Given the description of an element on the screen output the (x, y) to click on. 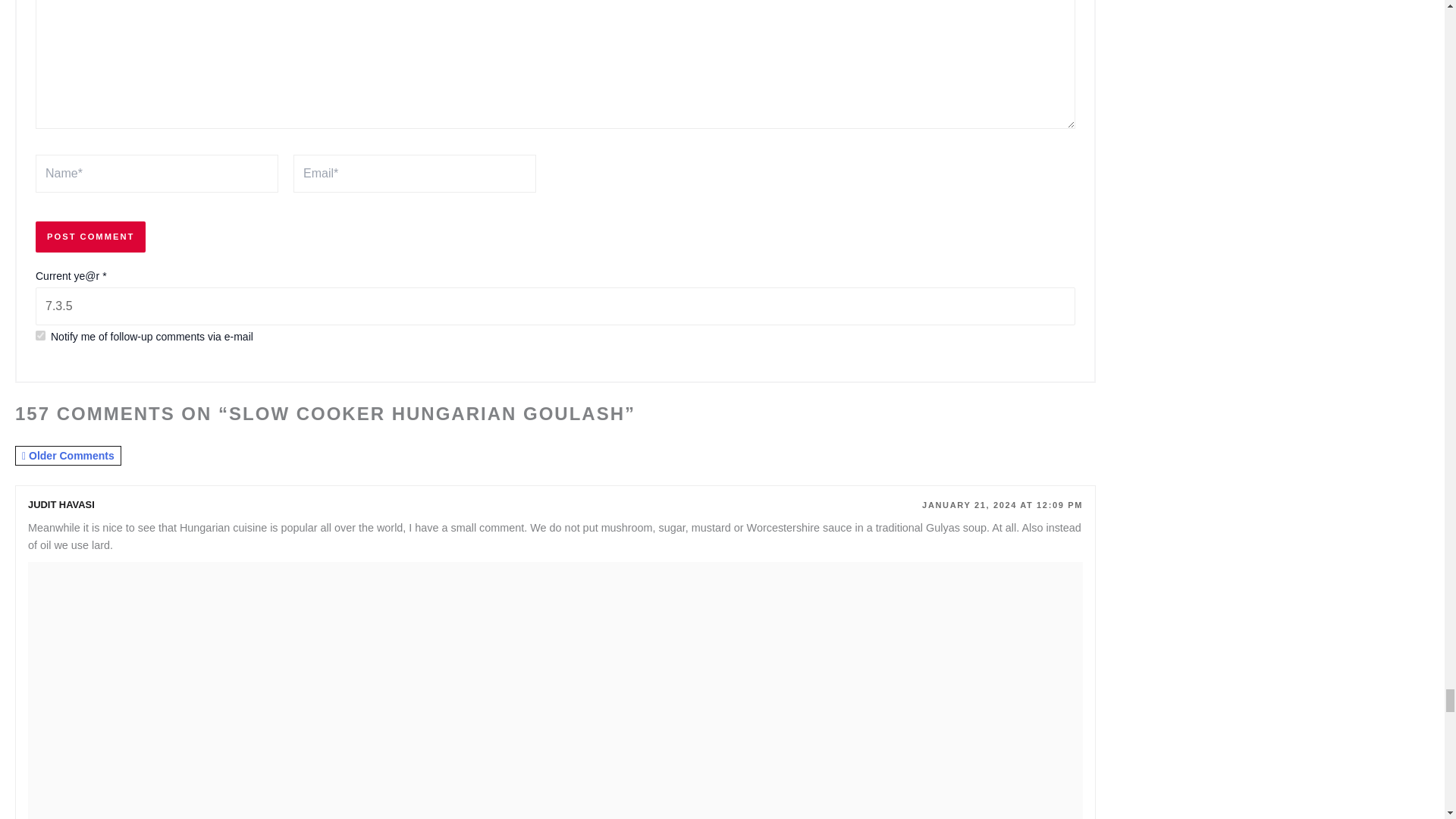
7.3.5 (554, 306)
Post Comment (89, 236)
1 (39, 335)
